Given the description of an element on the screen output the (x, y) to click on. 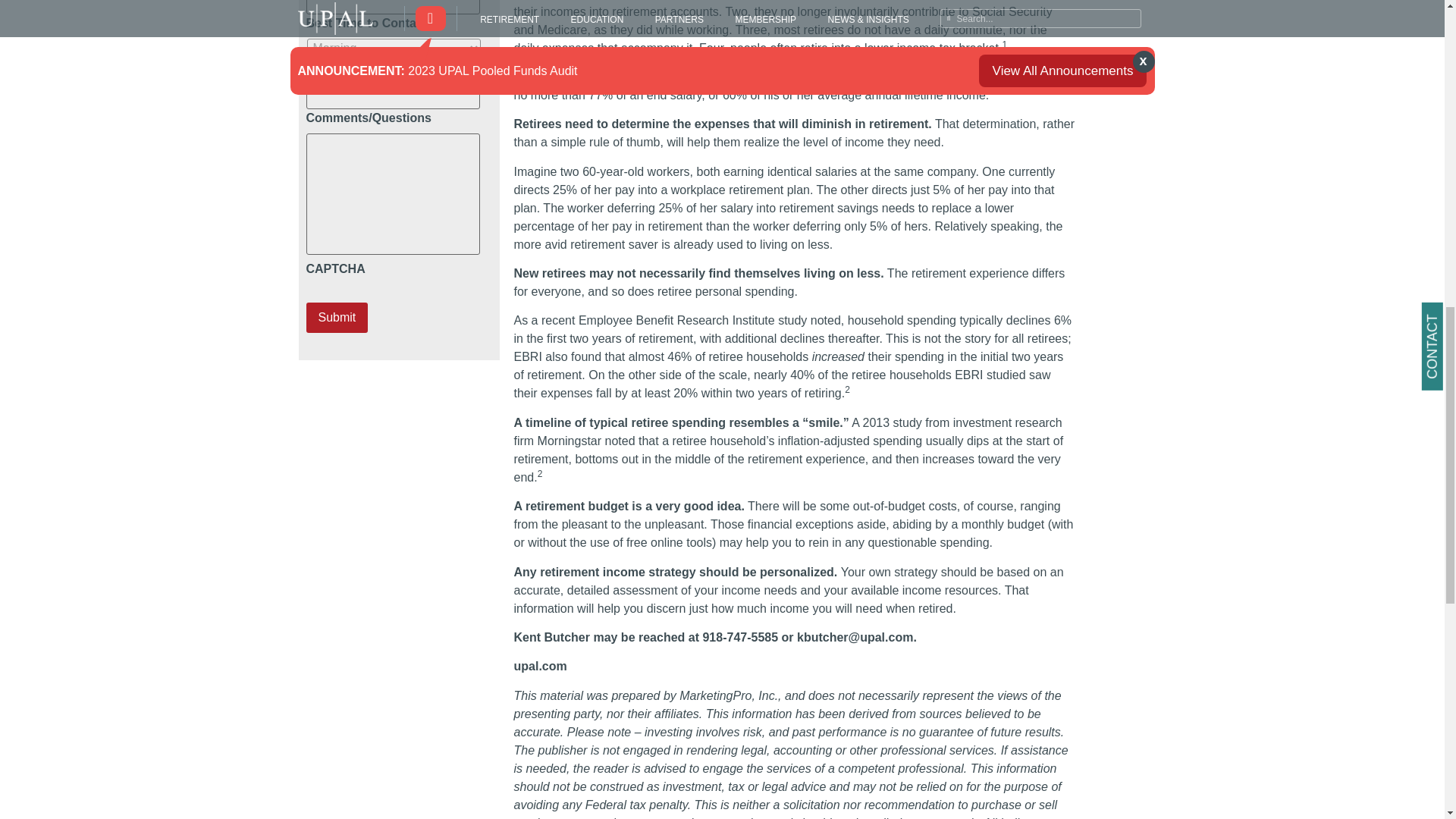
Submit (336, 317)
